Given the description of an element on the screen output the (x, y) to click on. 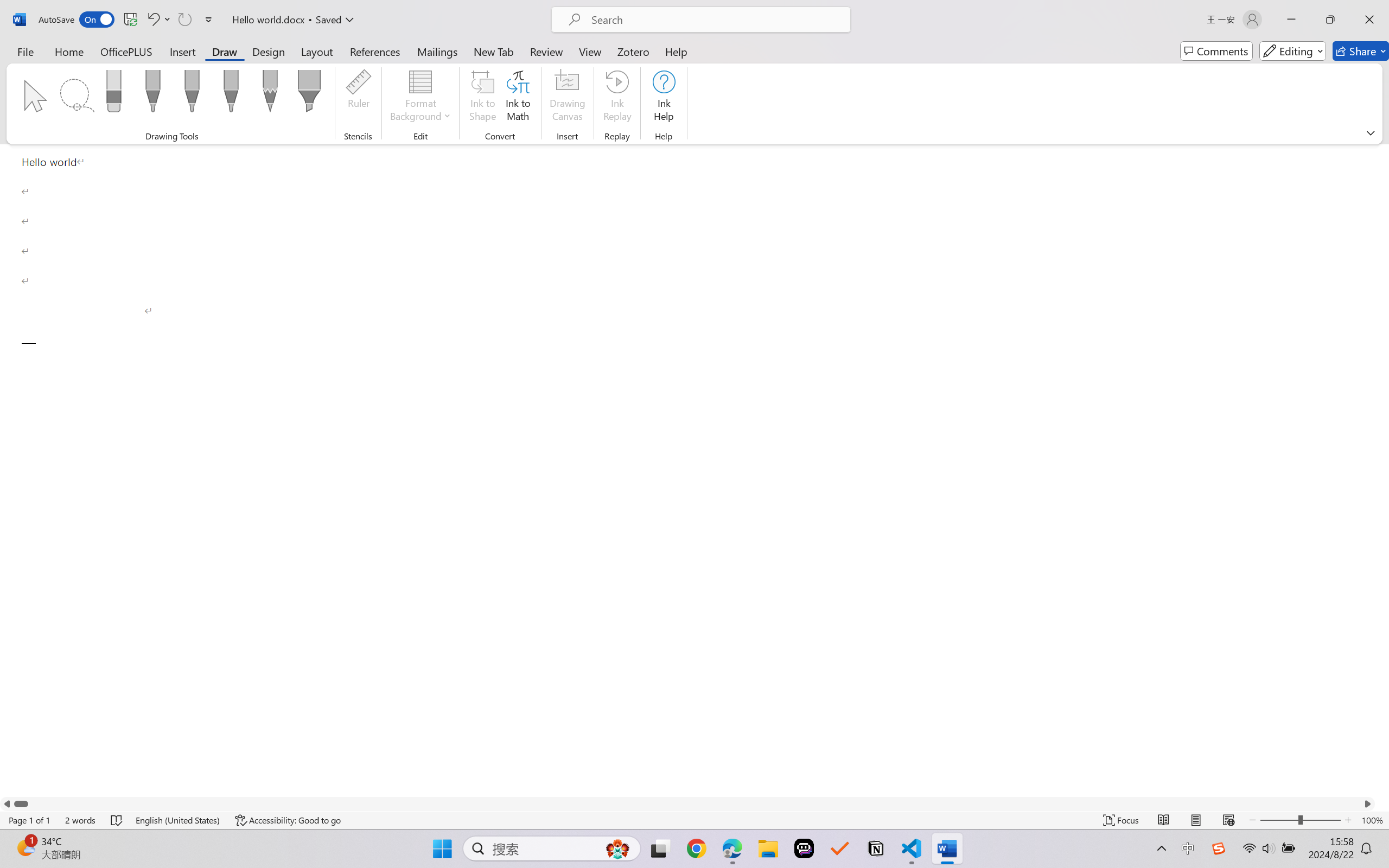
References (375, 51)
Ink Help (663, 97)
Drawing Canvas (567, 97)
Can't Repeat (184, 19)
AutomationID: BadgeAnchorLargeTicker (24, 847)
Pen: Red, 0.5 mm (191, 94)
Help (675, 51)
Spelling and Grammar Check No Errors (117, 819)
Layout (316, 51)
Format Background (420, 97)
Zoom (1300, 819)
Column right (1368, 803)
